Given the description of an element on the screen output the (x, y) to click on. 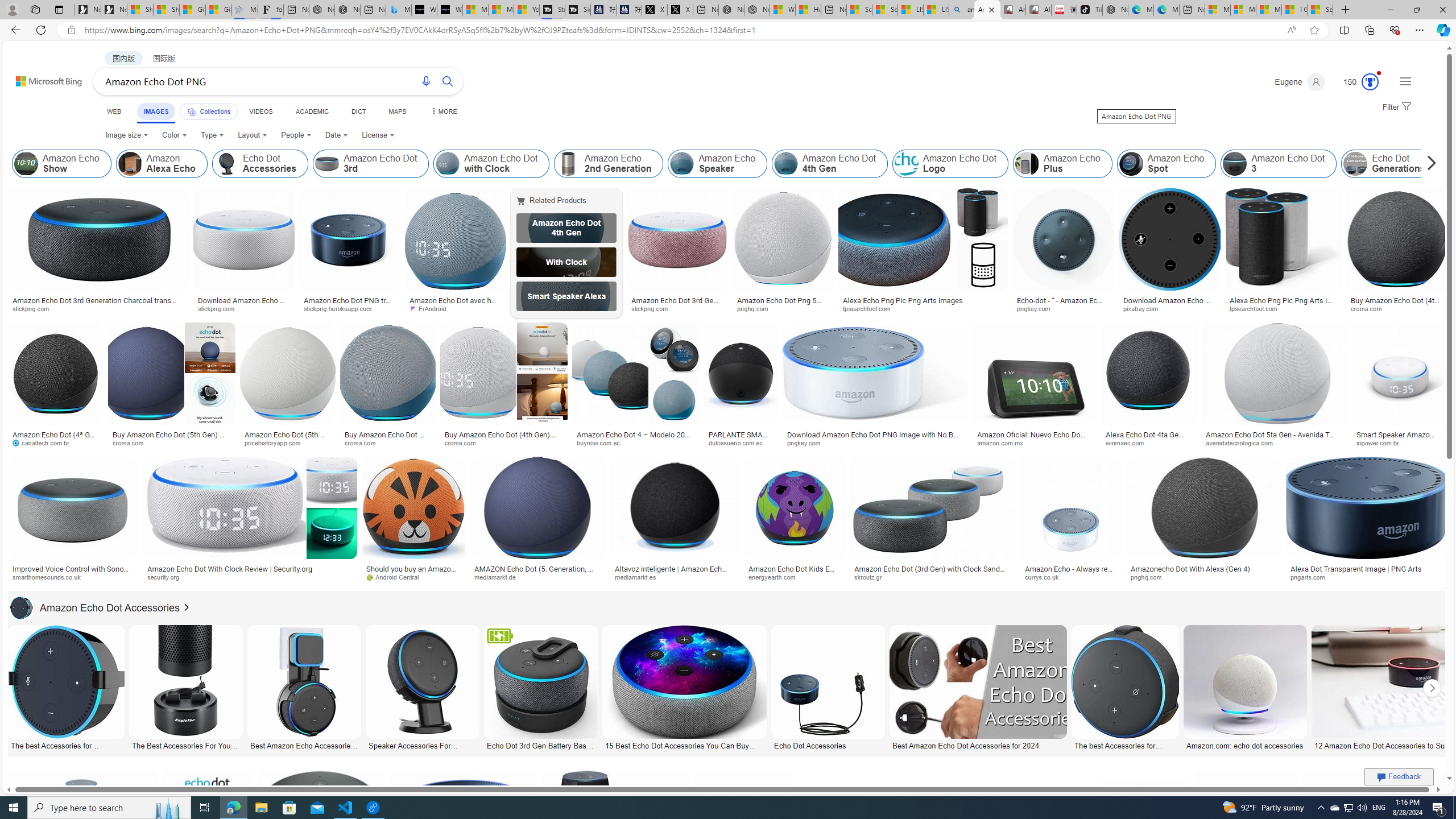
Amazon Echo Dot With Clock Review | Security.org (249, 568)
buynow.com.ec (635, 442)
FrAndroid (455, 308)
Amazonecho Dot With Alexa (Gen 4) (1190, 568)
Best Amazon Echo Dot Accessories for 2024 (976, 744)
Android Central (396, 576)
Amazon Echo Spot (1165, 163)
Android Central (413, 576)
mediamarkt.es (674, 576)
